Given the description of an element on the screen output the (x, y) to click on. 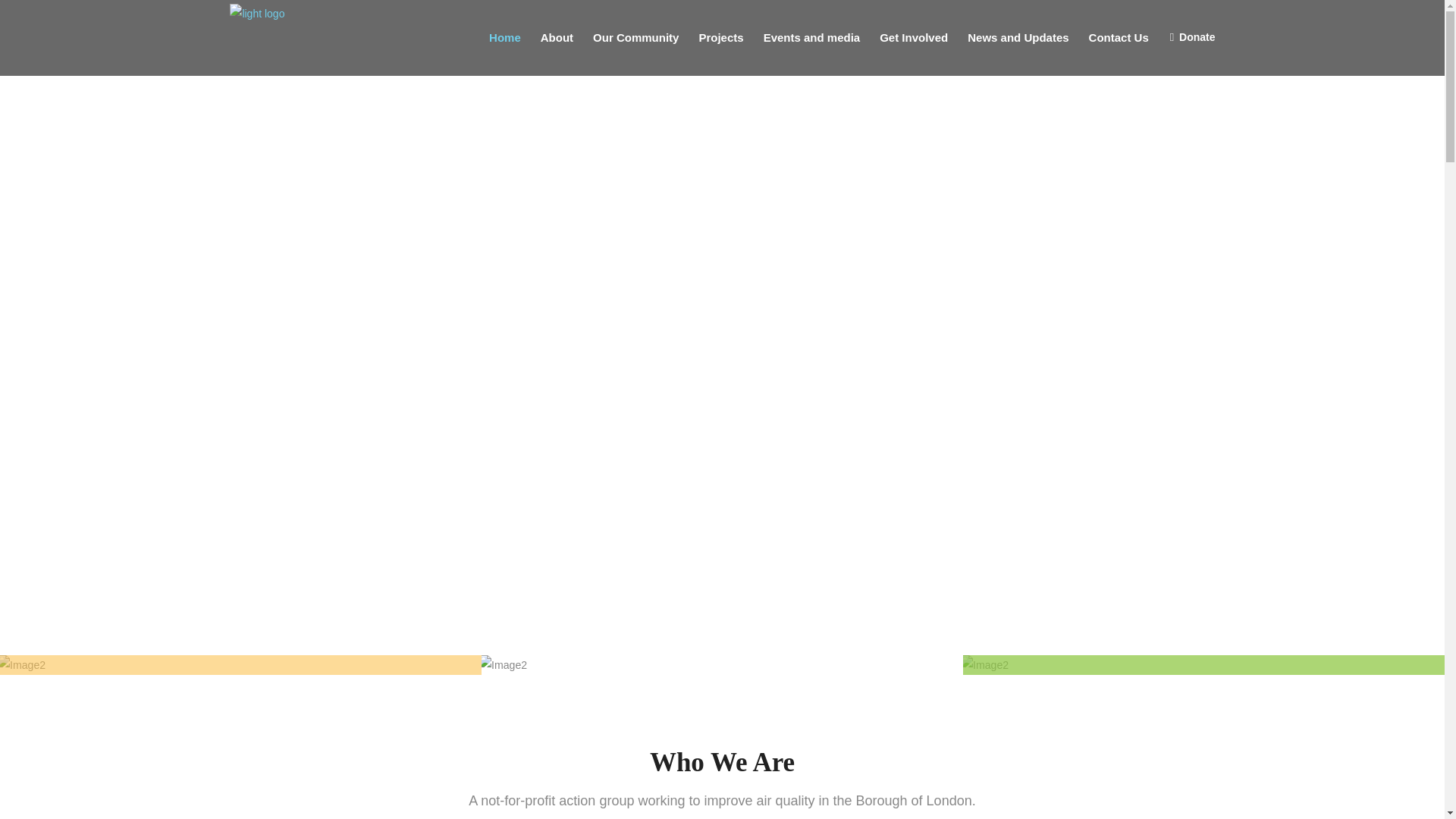
Events and media (812, 37)
Contact Us (1118, 37)
Donate (1196, 37)
Our Community (635, 37)
Get Involved (913, 37)
News and Updates (1018, 37)
